Given the description of an element on the screen output the (x, y) to click on. 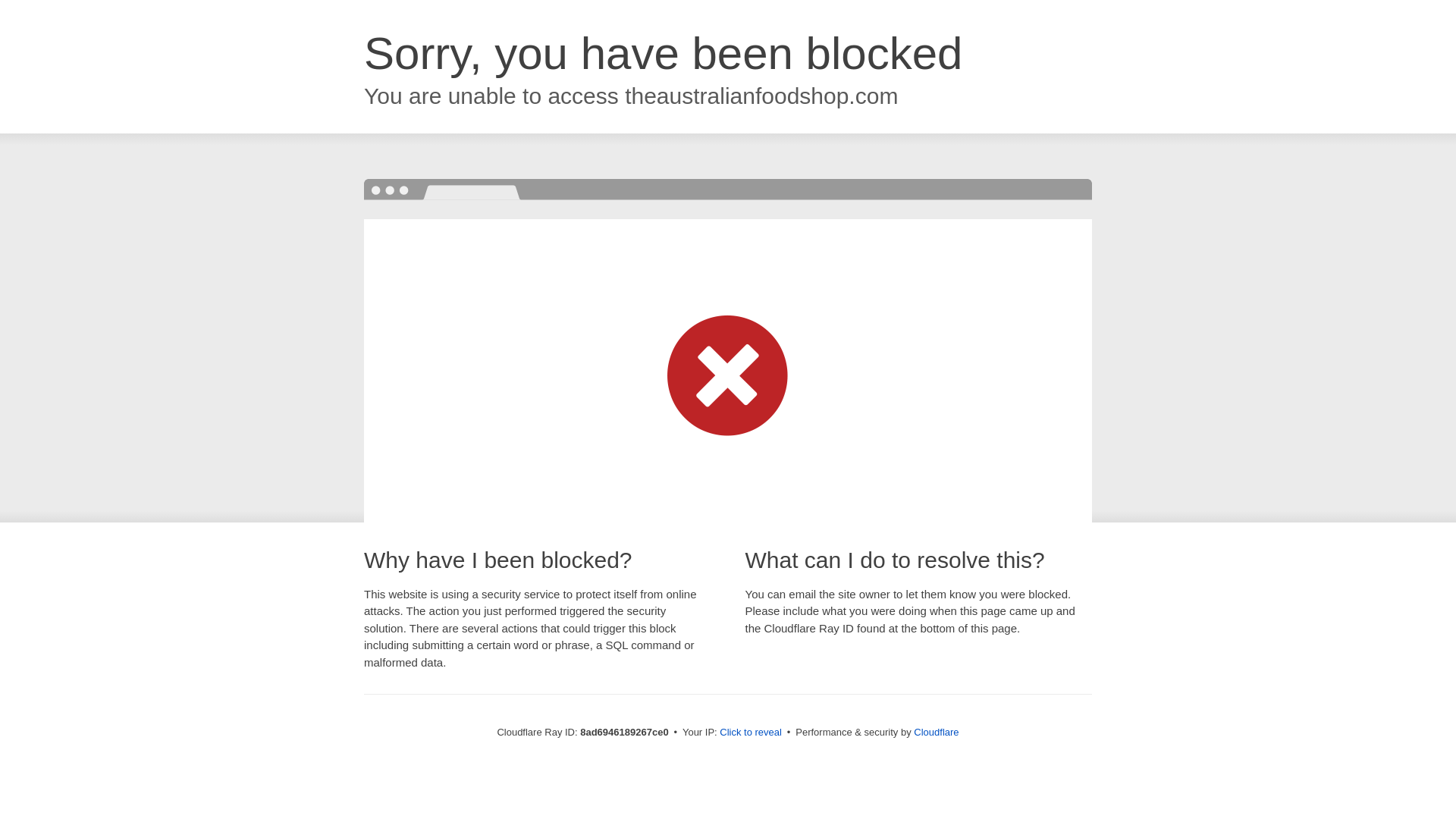
Cloudflare (936, 731)
Click to reveal (750, 732)
